Given the description of an element on the screen output the (x, y) to click on. 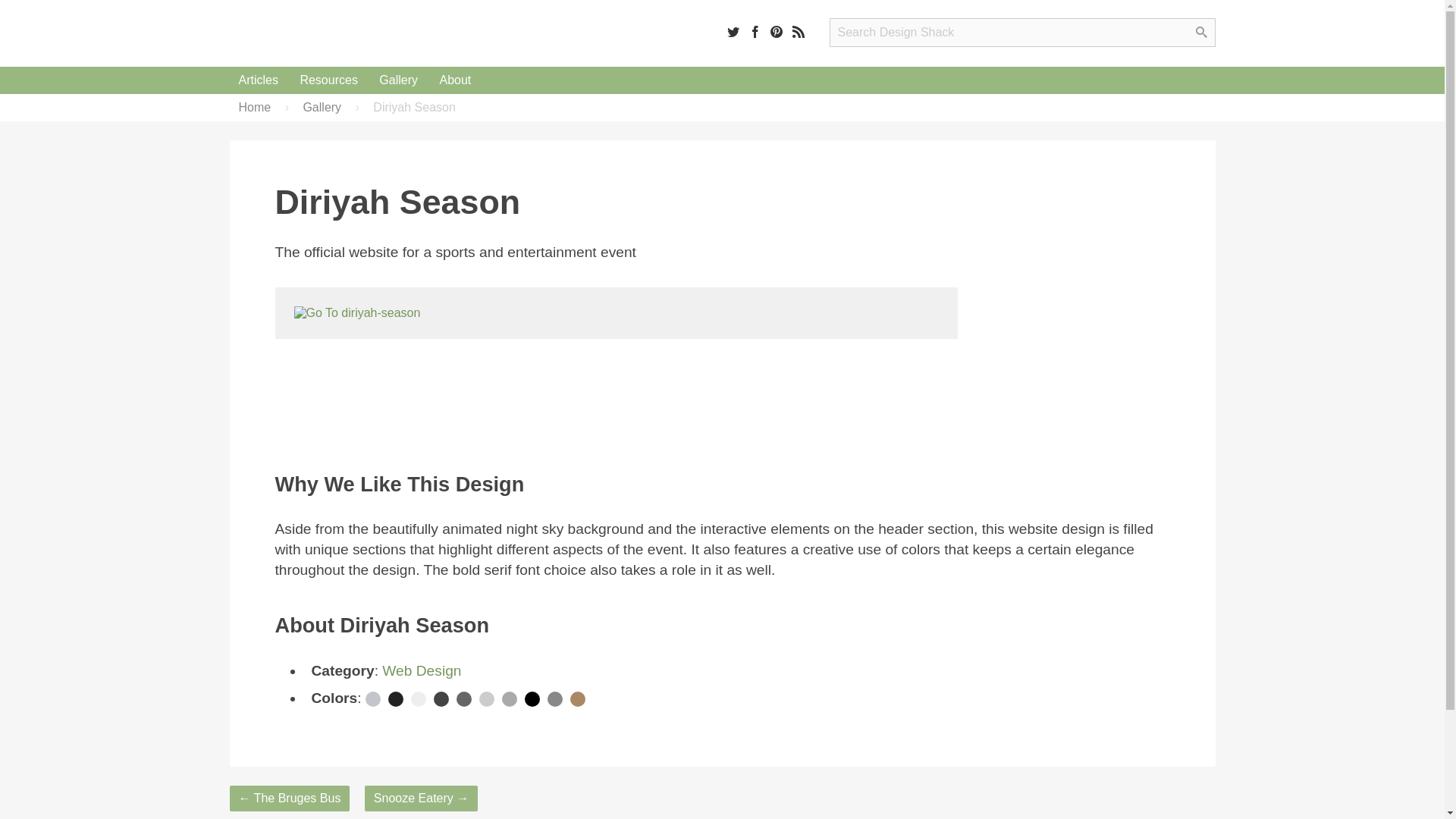
RSS Feed (797, 31)
Articles (257, 80)
Search Design Shack (1022, 32)
Search Design Shack (1022, 32)
Facebook (755, 31)
Pinterest (776, 31)
Articles (257, 80)
Design Shack (326, 34)
